Given the description of an element on the screen output the (x, y) to click on. 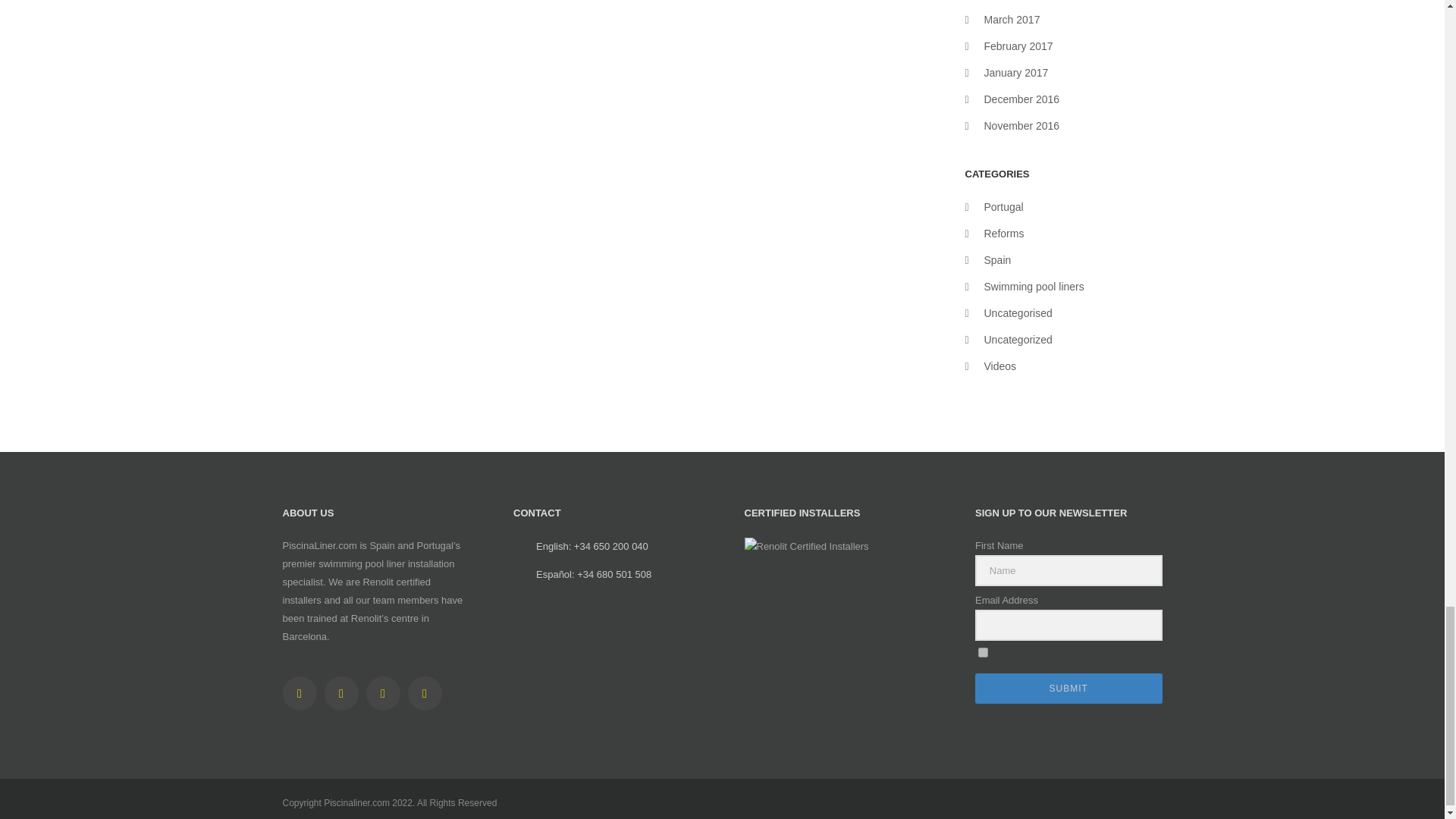
1 (983, 652)
